Given the description of an element on the screen output the (x, y) to click on. 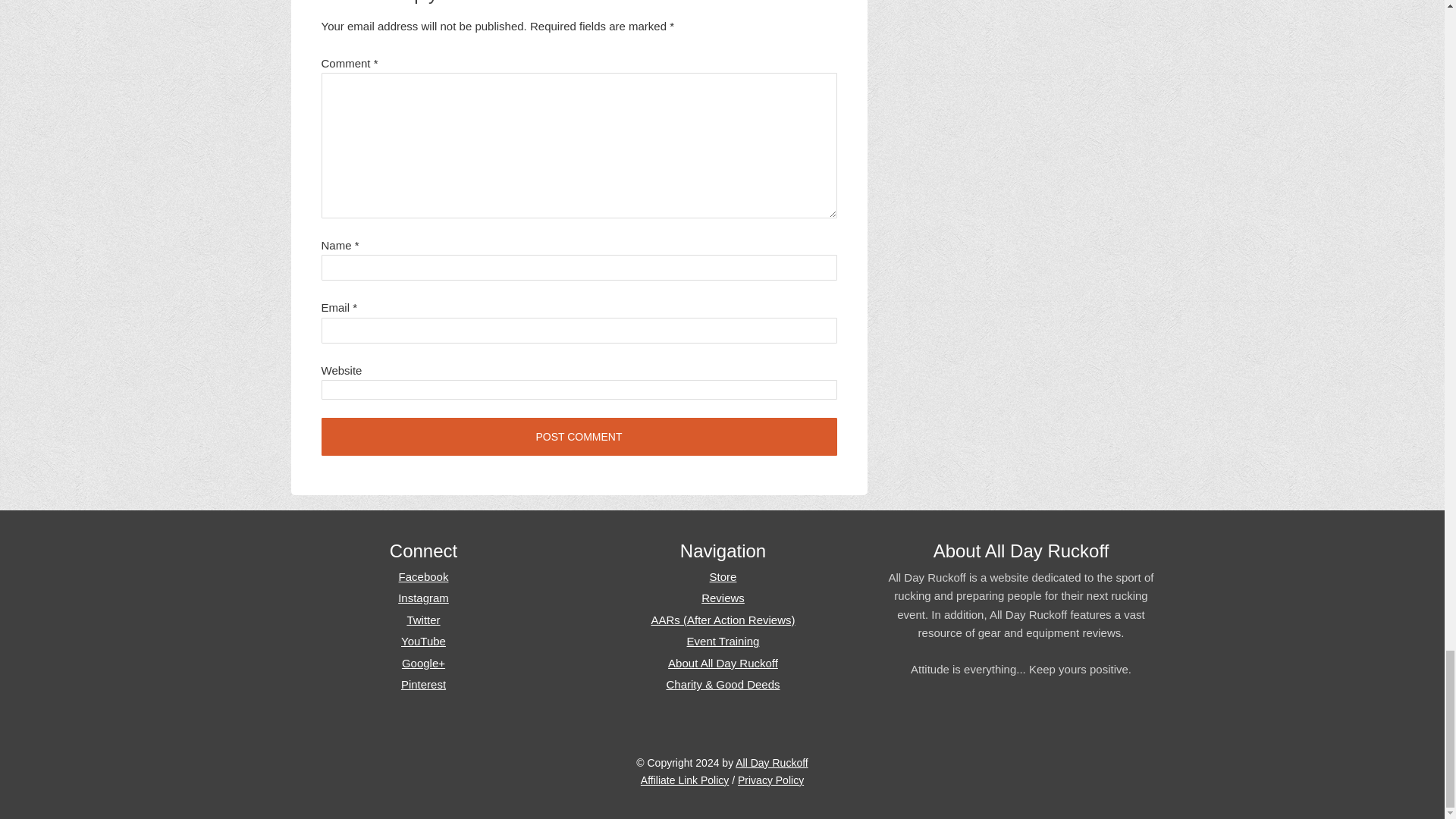
Post Comment (579, 436)
